Given the description of an element on the screen output the (x, y) to click on. 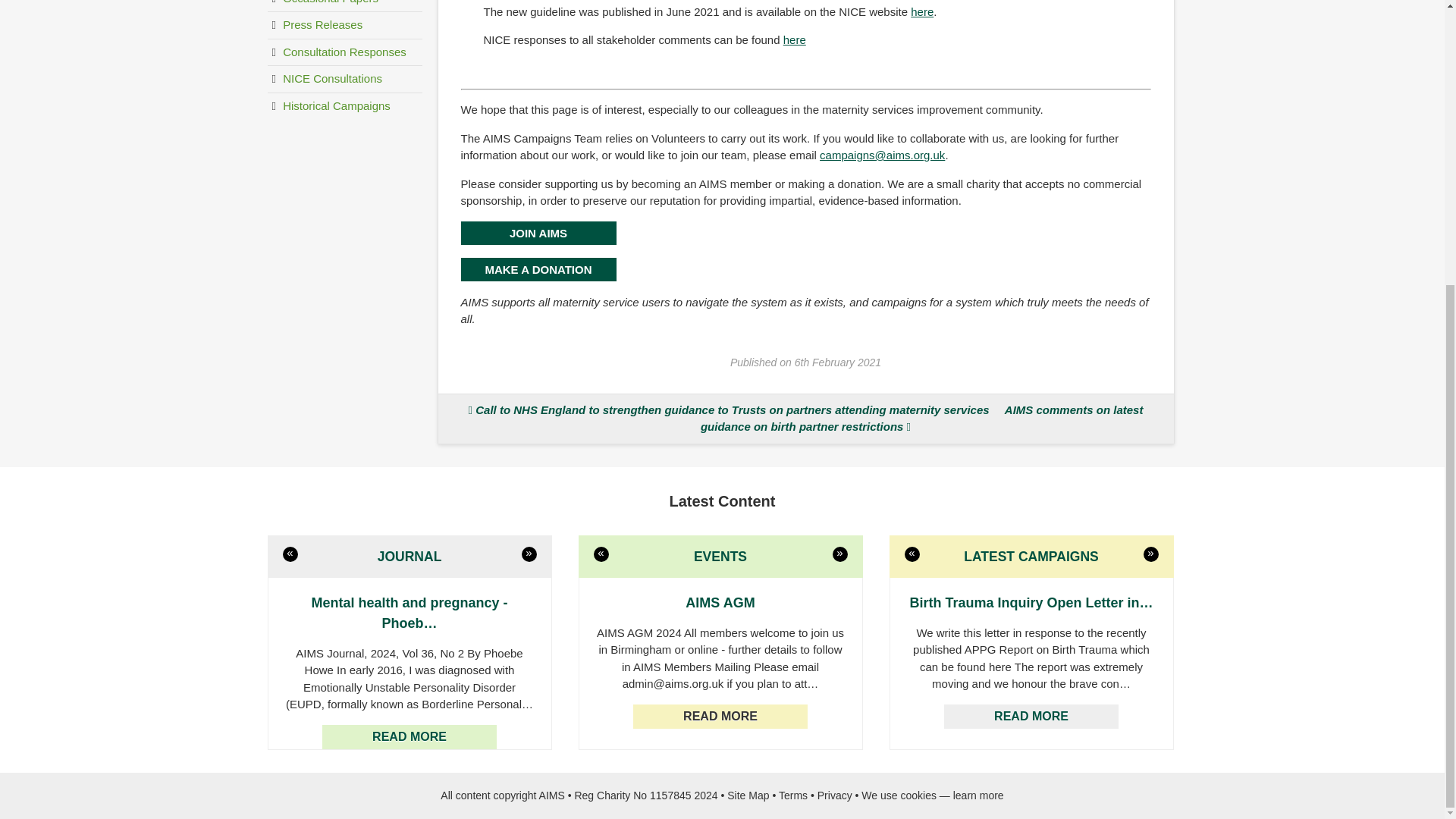
Occasional Papers (344, 6)
NICE Consultations (344, 79)
Press Releases (344, 25)
Consultation Responses (344, 52)
Historical Campaigns (344, 105)
